Given the description of an element on the screen output the (x, y) to click on. 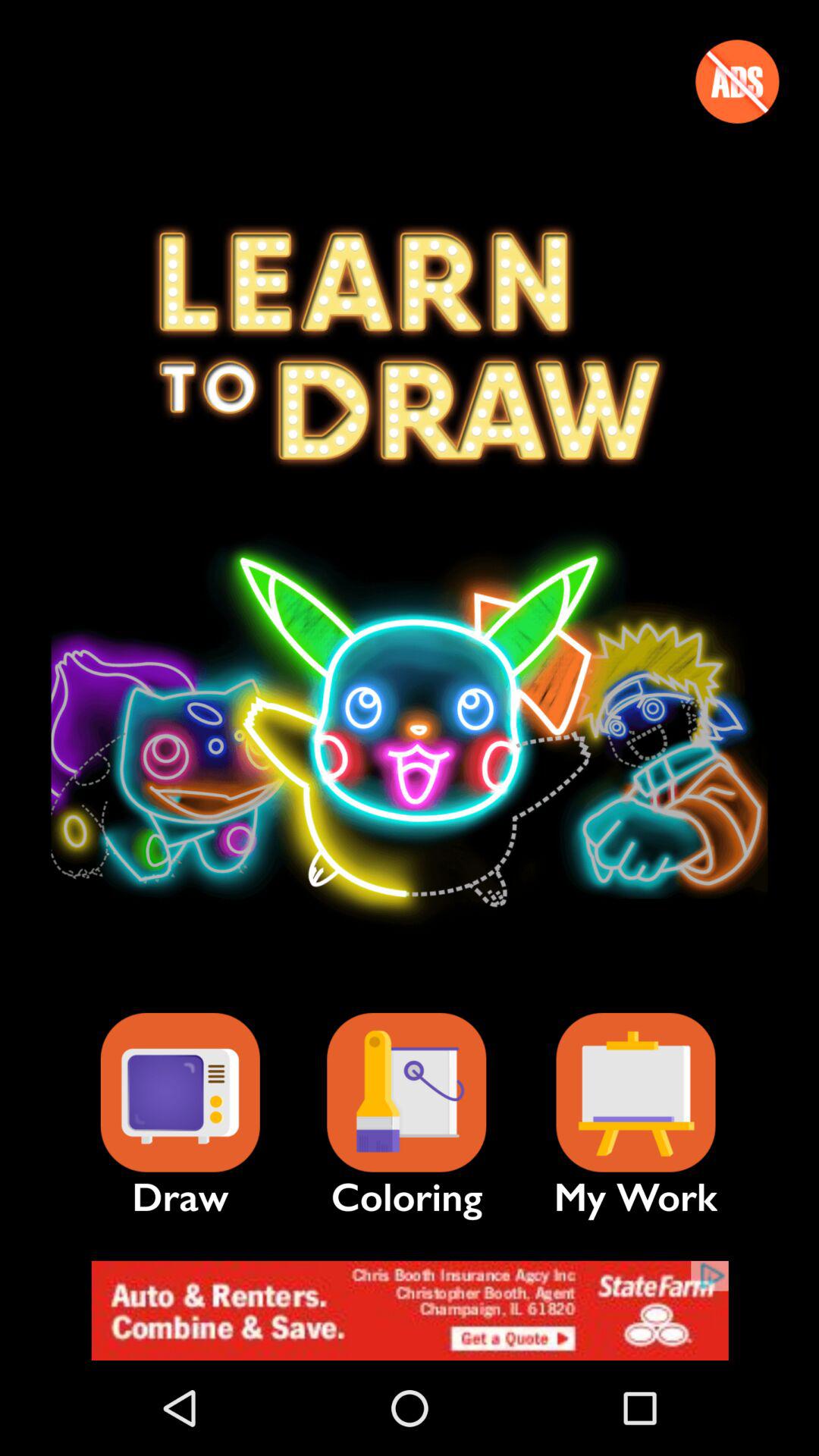
press the item above the draw icon (179, 1092)
